Given the description of an element on the screen output the (x, y) to click on. 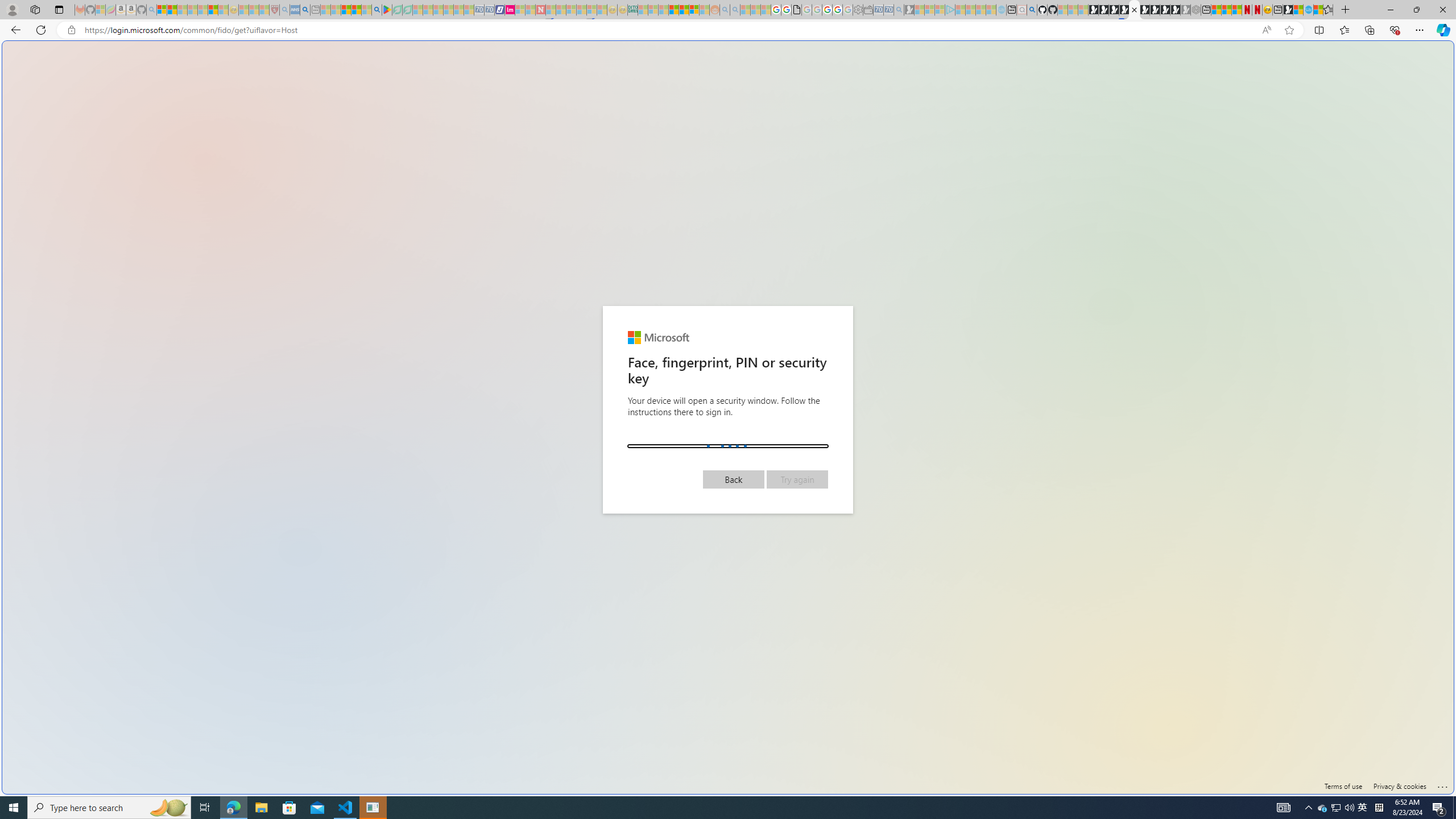
Play Cave FRVR in your browser | Games from Microsoft Start (922, 242)
New Report Confirms 2023 Was Record Hot | Watch - Sleeping (202, 9)
Sign in to your account (1134, 9)
Tabs you've opened (885, 151)
